Given the description of an element on the screen output the (x, y) to click on. 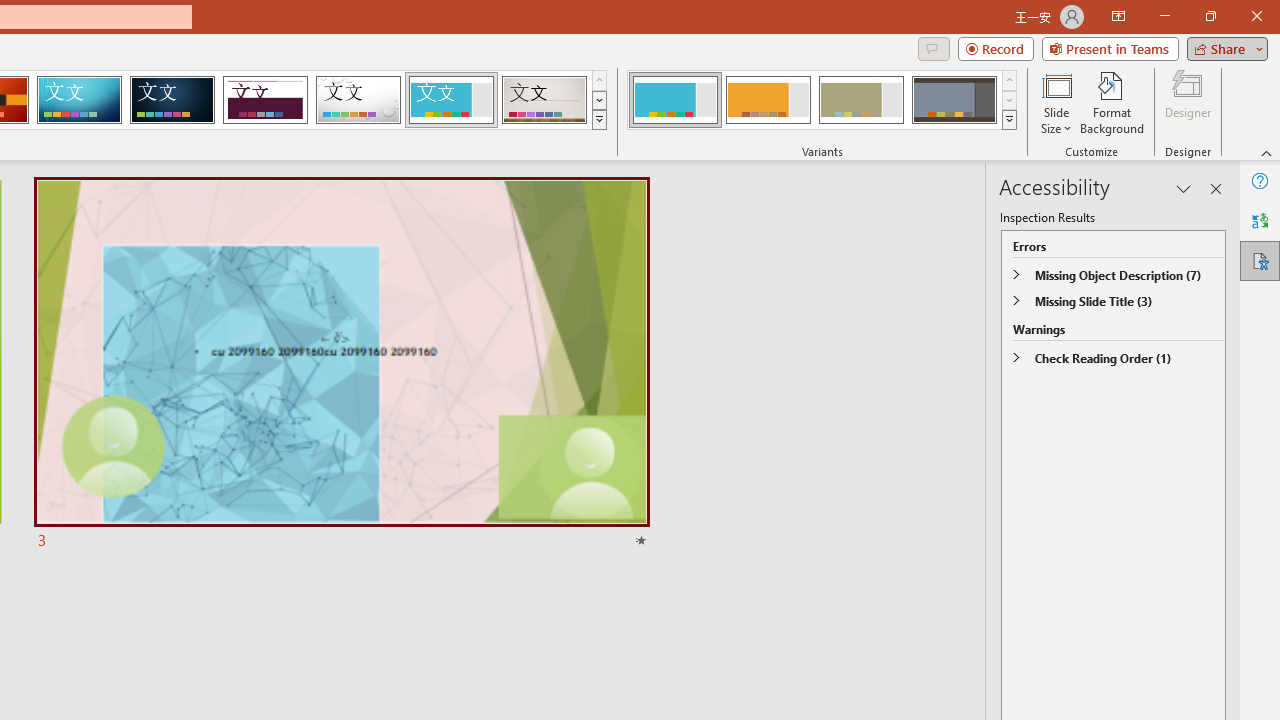
Droplet (358, 100)
Frame (450, 100)
Frame Variant 2 (768, 100)
Format Background (1111, 102)
Gallery (544, 100)
Frame Variant 1 (674, 100)
